Given the description of an element on the screen output the (x, y) to click on. 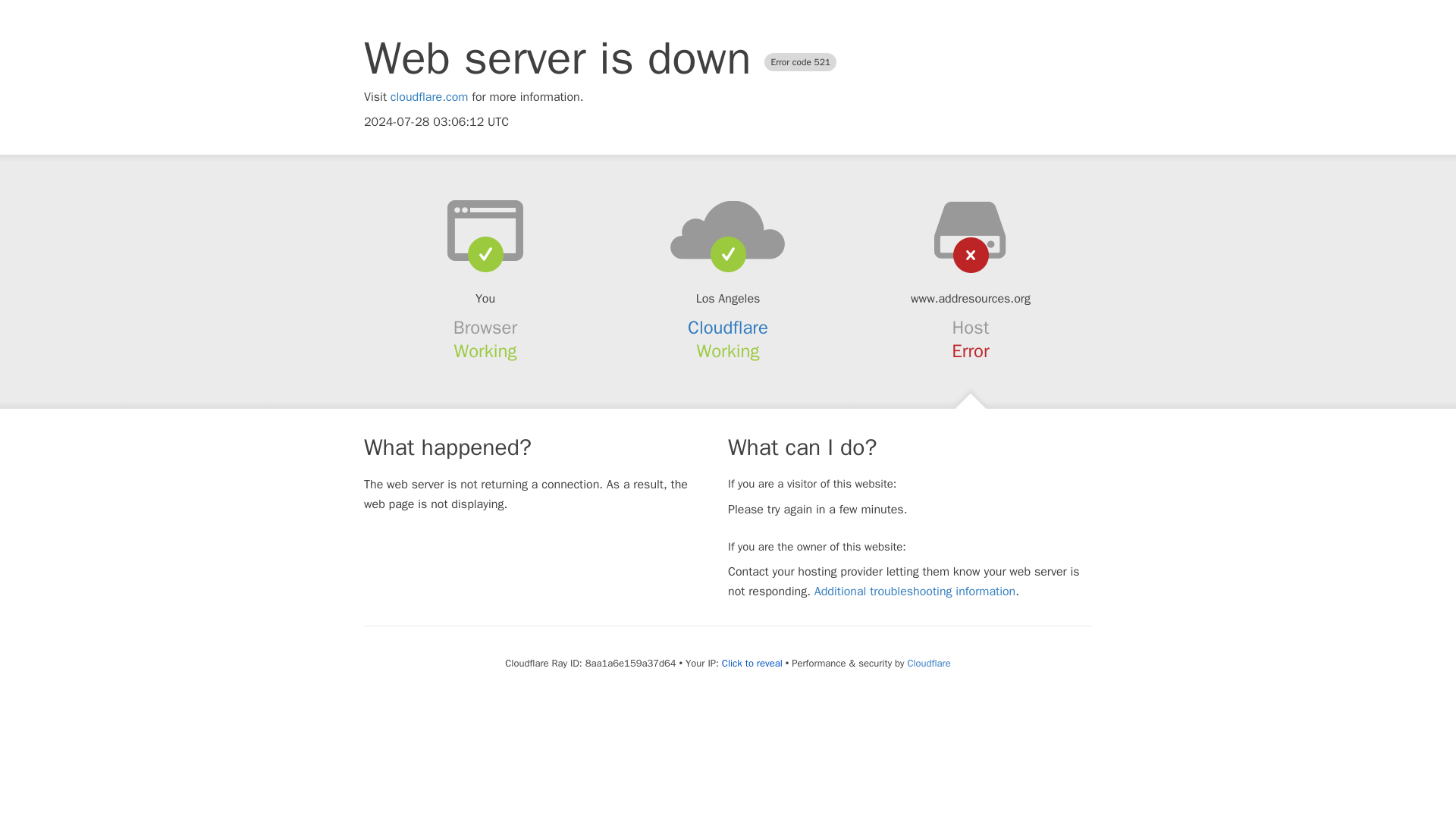
Additional troubleshooting information (913, 590)
cloudflare.com (429, 96)
Cloudflare (928, 662)
Click to reveal (752, 663)
Cloudflare (727, 327)
